Given the description of an element on the screen output the (x, y) to click on. 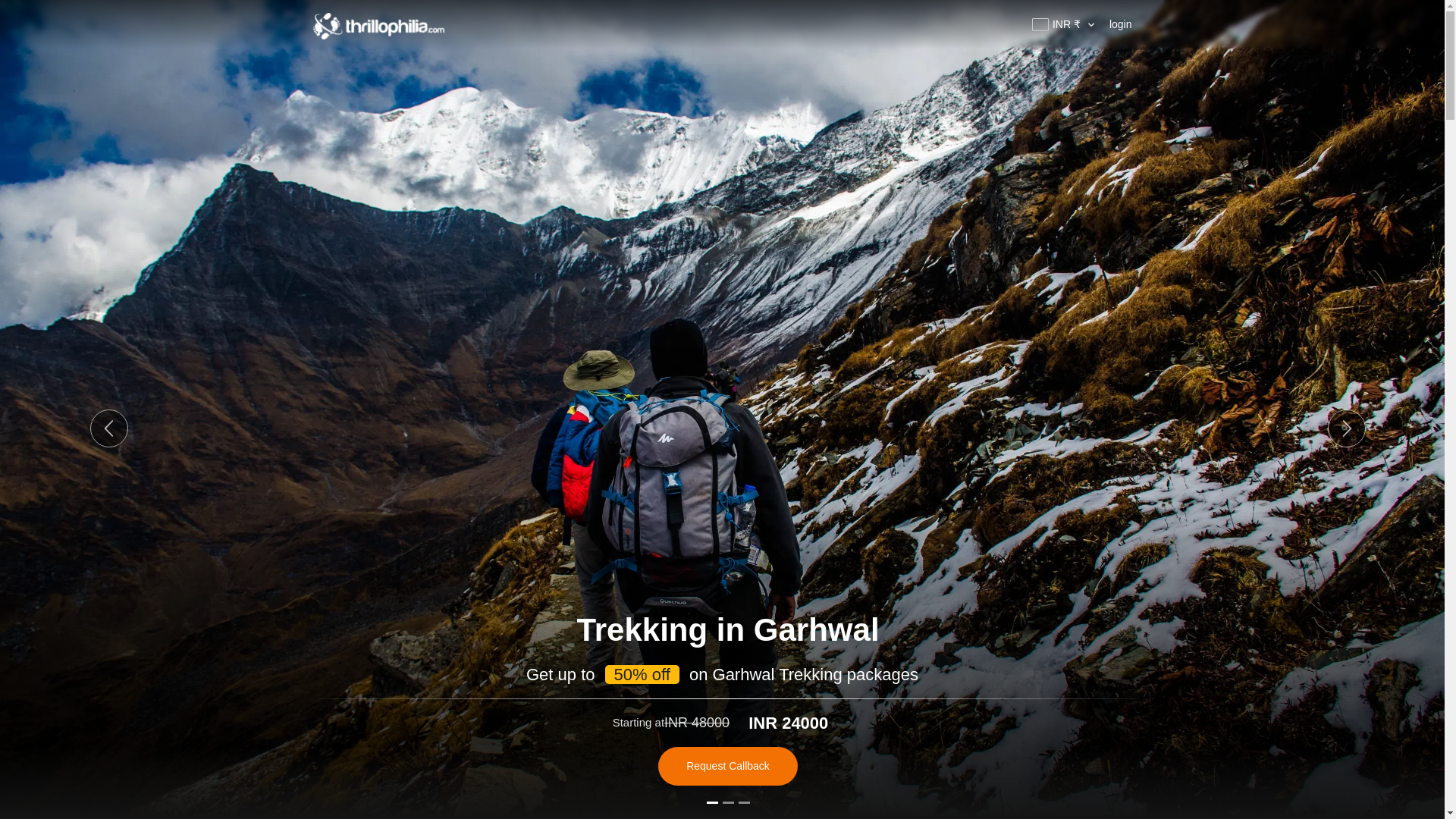
Previous (109, 428)
